Given the description of an element on the screen output the (x, y) to click on. 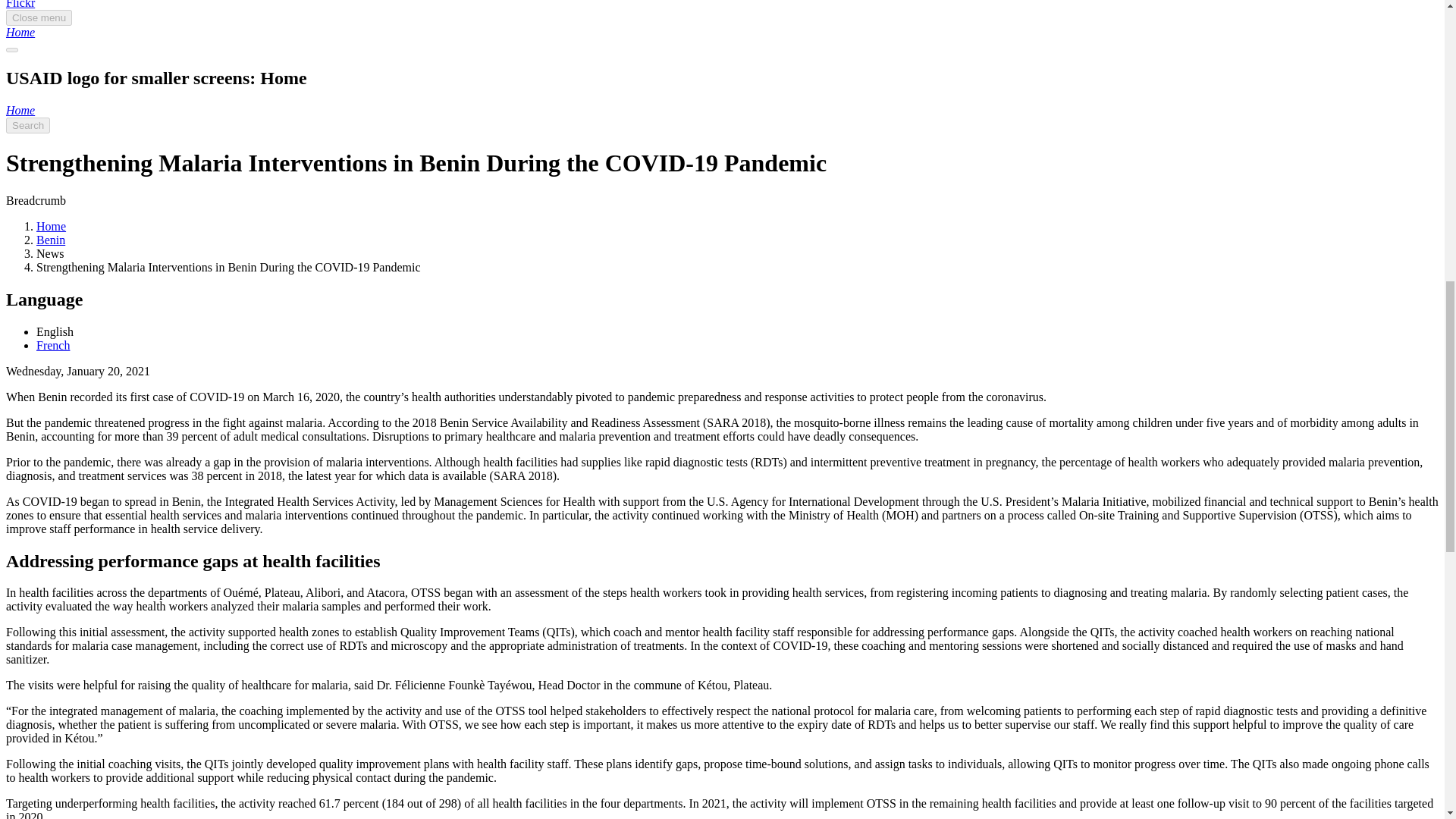
Home (50, 226)
Flickr (19, 4)
Open full screen menu. (11, 49)
Benin (50, 239)
Search (27, 125)
Home (19, 31)
French (52, 345)
Home (19, 110)
Home (19, 110)
Home (19, 31)
Close menu (38, 17)
